Given the description of an element on the screen output the (x, y) to click on. 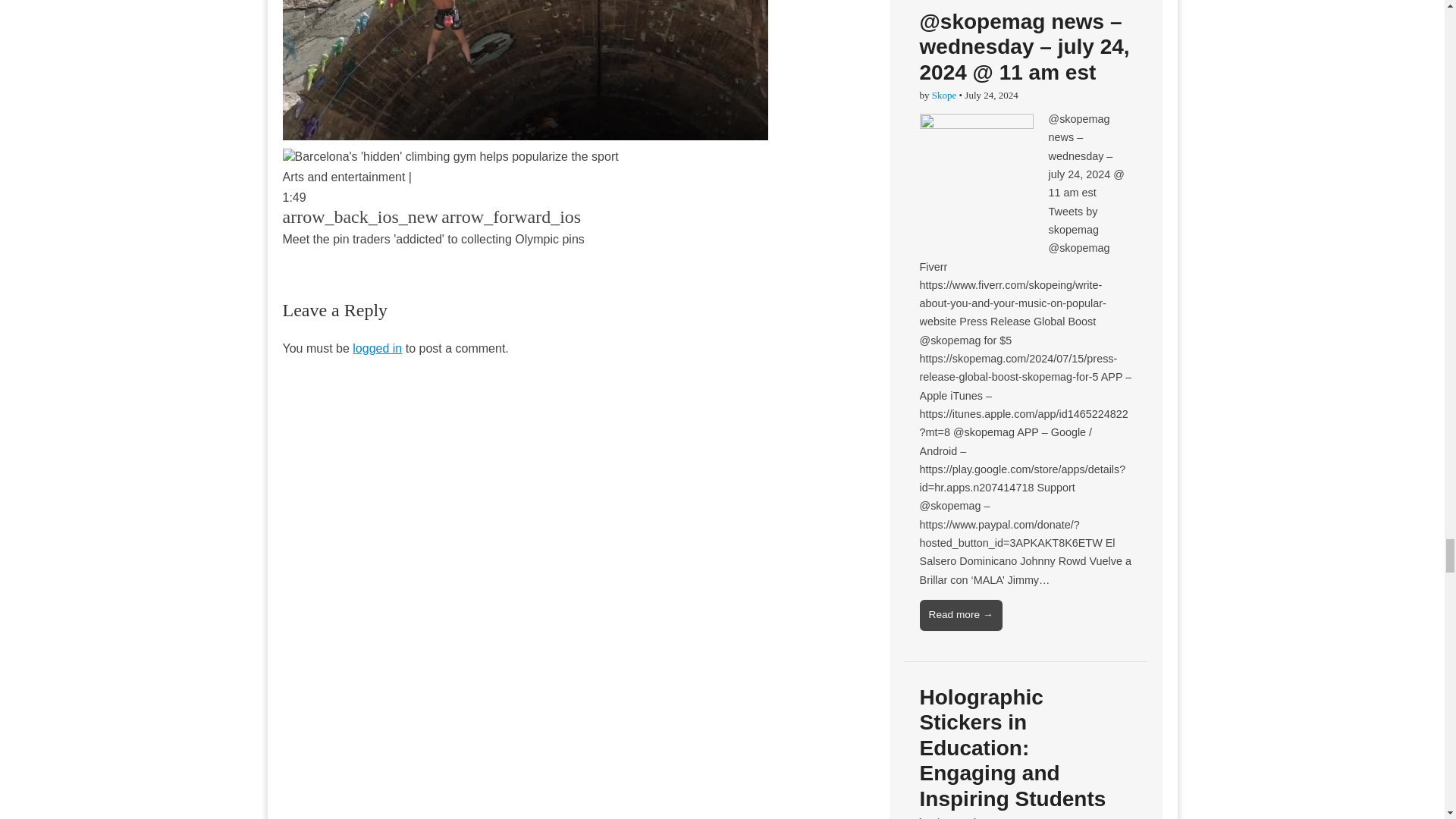
logged in (376, 348)
